Given the description of an element on the screen output the (x, y) to click on. 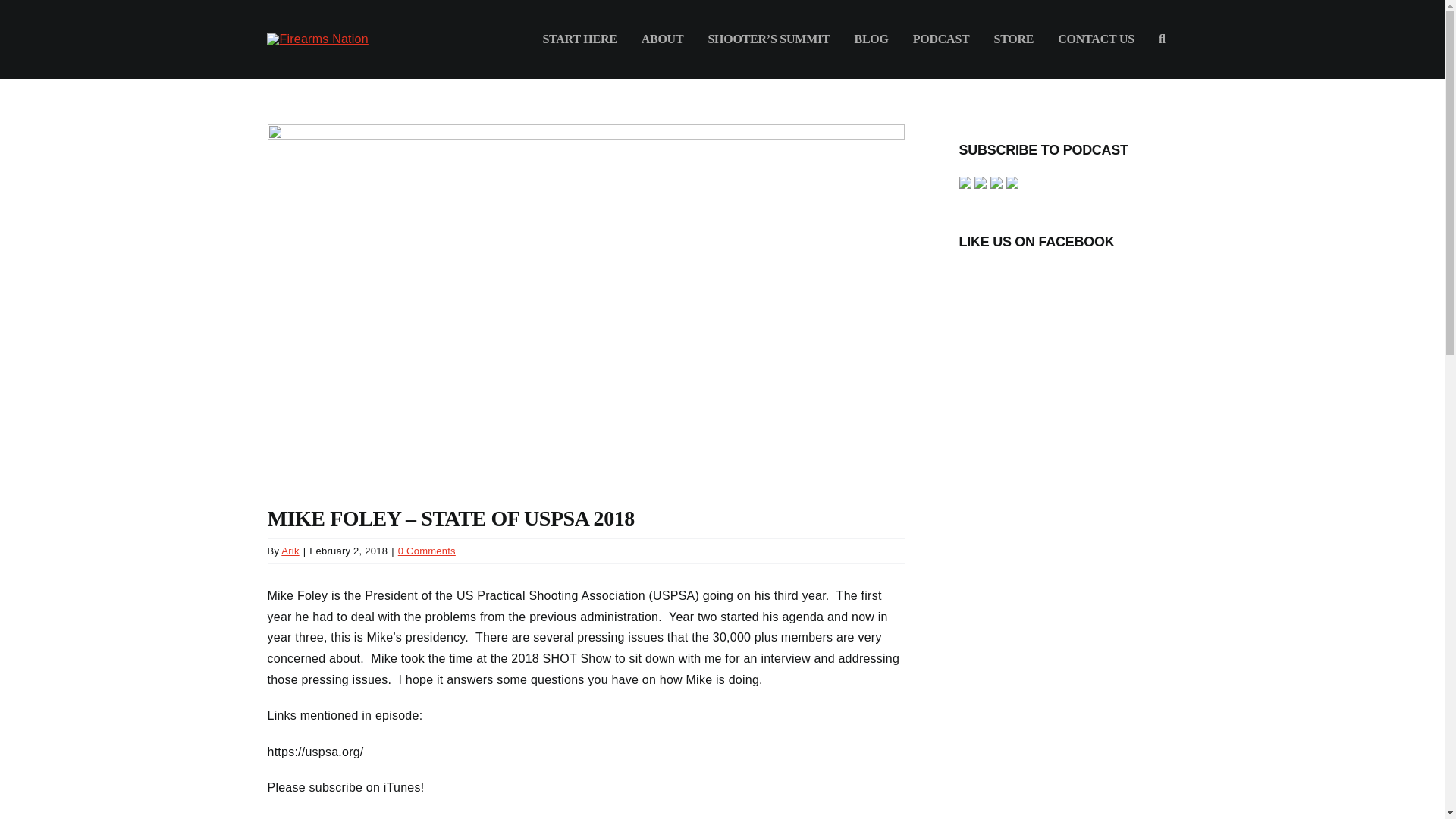
BLOG (870, 39)
START HERE (578, 39)
STORE (1013, 39)
ABOUT (661, 39)
0 Comments (426, 550)
CONTACT US (1096, 39)
Posts by Arik (289, 550)
Arik (289, 550)
PODCAST (941, 39)
